Given the description of an element on the screen output the (x, y) to click on. 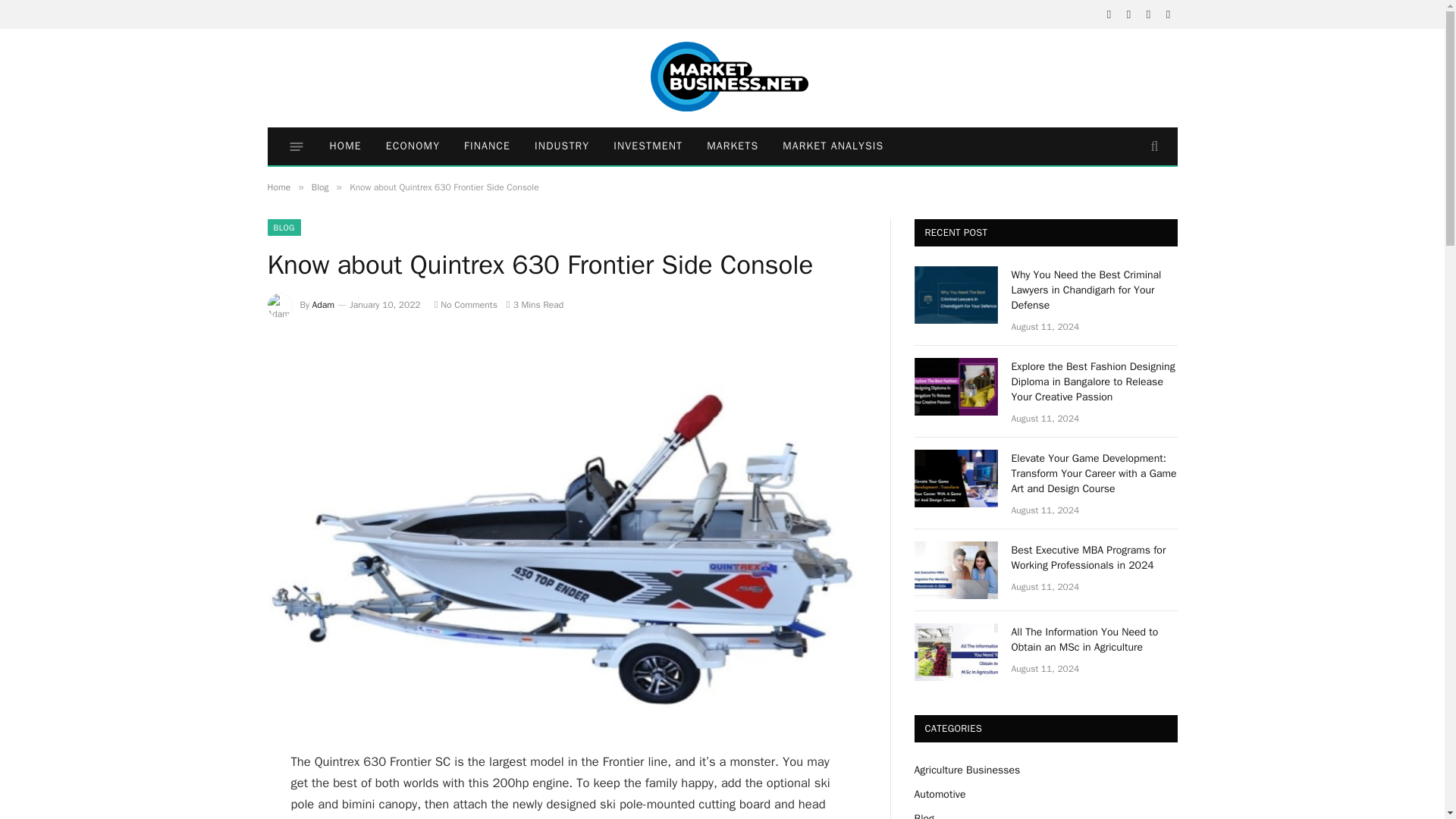
Blog (320, 186)
HOME (344, 146)
ECONOMY (412, 146)
MARKET ANALYSIS (832, 146)
BLOG (282, 227)
Adam (323, 304)
FINANCE (486, 146)
Marketbusiness (721, 77)
Home (277, 186)
